Given the description of an element on the screen output the (x, y) to click on. 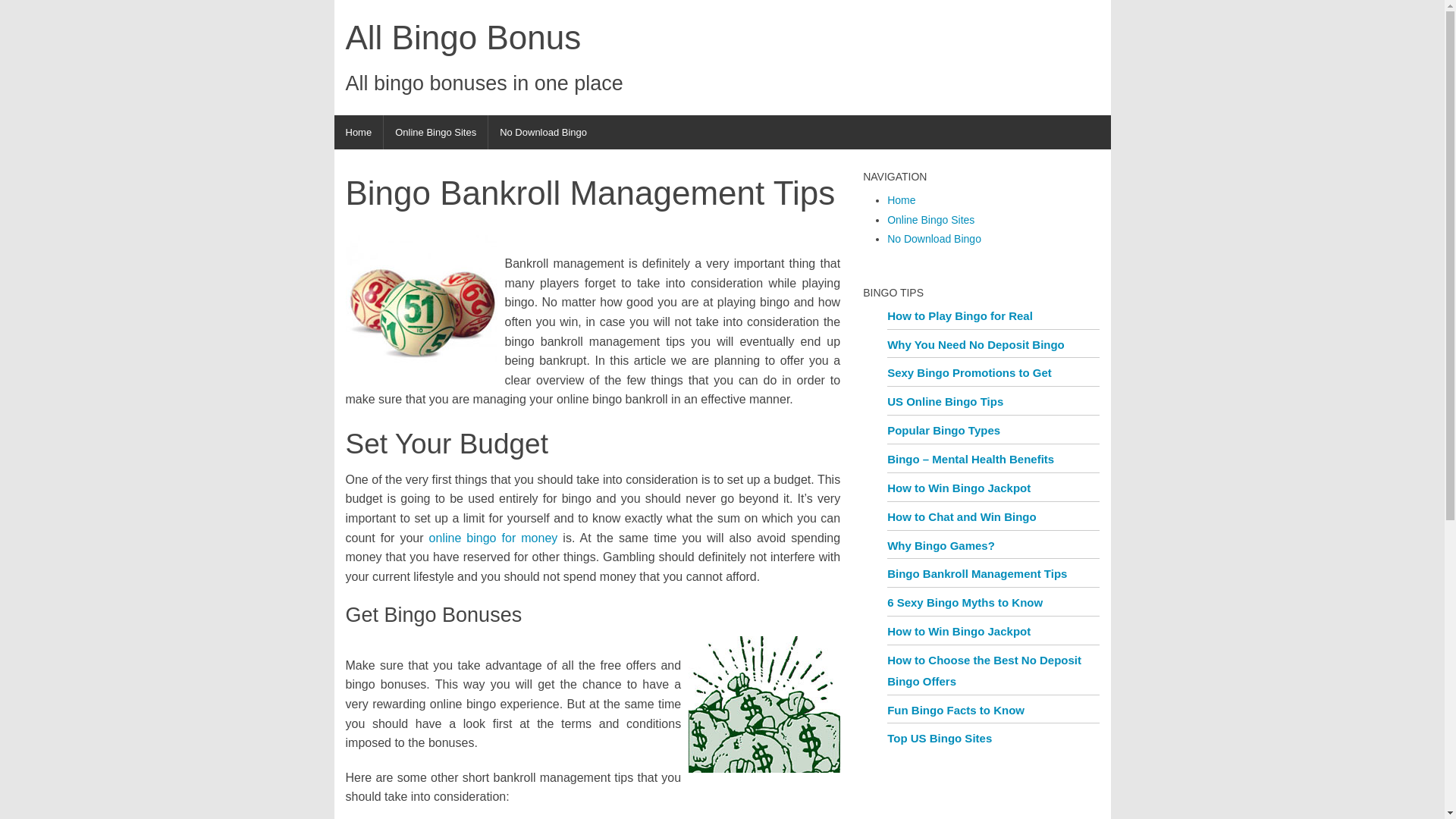
Permanent link to Popular Bingo Types (943, 430)
Why You Need No Deposit Bingo (975, 344)
Permanent link to Why You Need No Deposit Bingo (975, 344)
online bingo for money (493, 537)
online bingo for money (493, 537)
Popular Bingo Types (943, 430)
How to Choose the Best No Deposit Bingo Offers (983, 670)
Permanent link to US Online Bingo Tips (944, 400)
Permanent link to Sexy Bingo Promotions to Get (968, 372)
All Bingo Bonus (484, 38)
Home (357, 132)
Permanent link to How to Play Bingo for Real (959, 315)
Permanent link to Why Bingo Games? (940, 545)
Bingo Bankroll Management Tips (976, 573)
Home (900, 200)
